Given the description of an element on the screen output the (x, y) to click on. 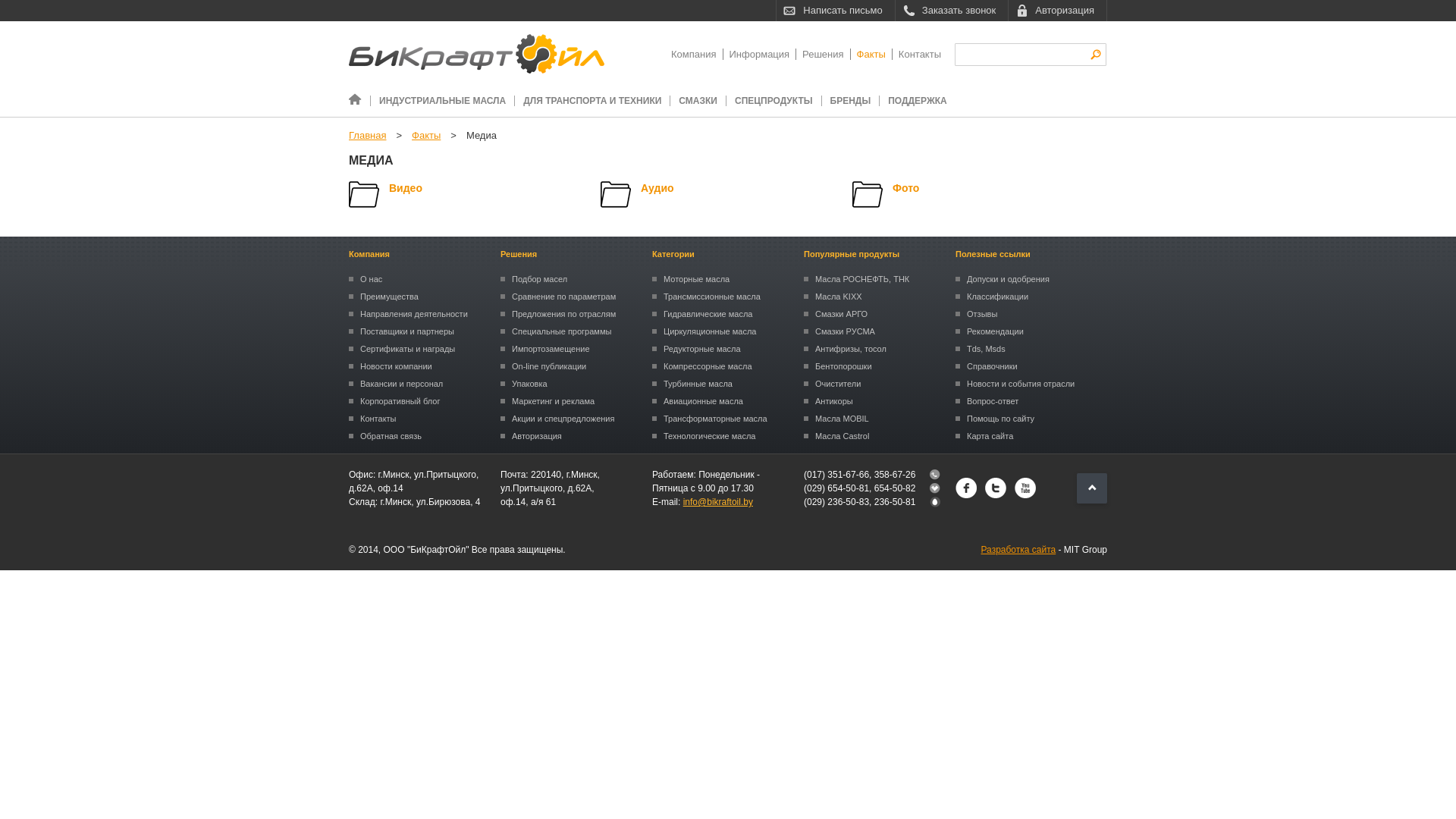
Tds, Msds Element type: text (1025, 348)
info@bikraftoil.by Element type: text (718, 501)
